Given the description of an element on the screen output the (x, y) to click on. 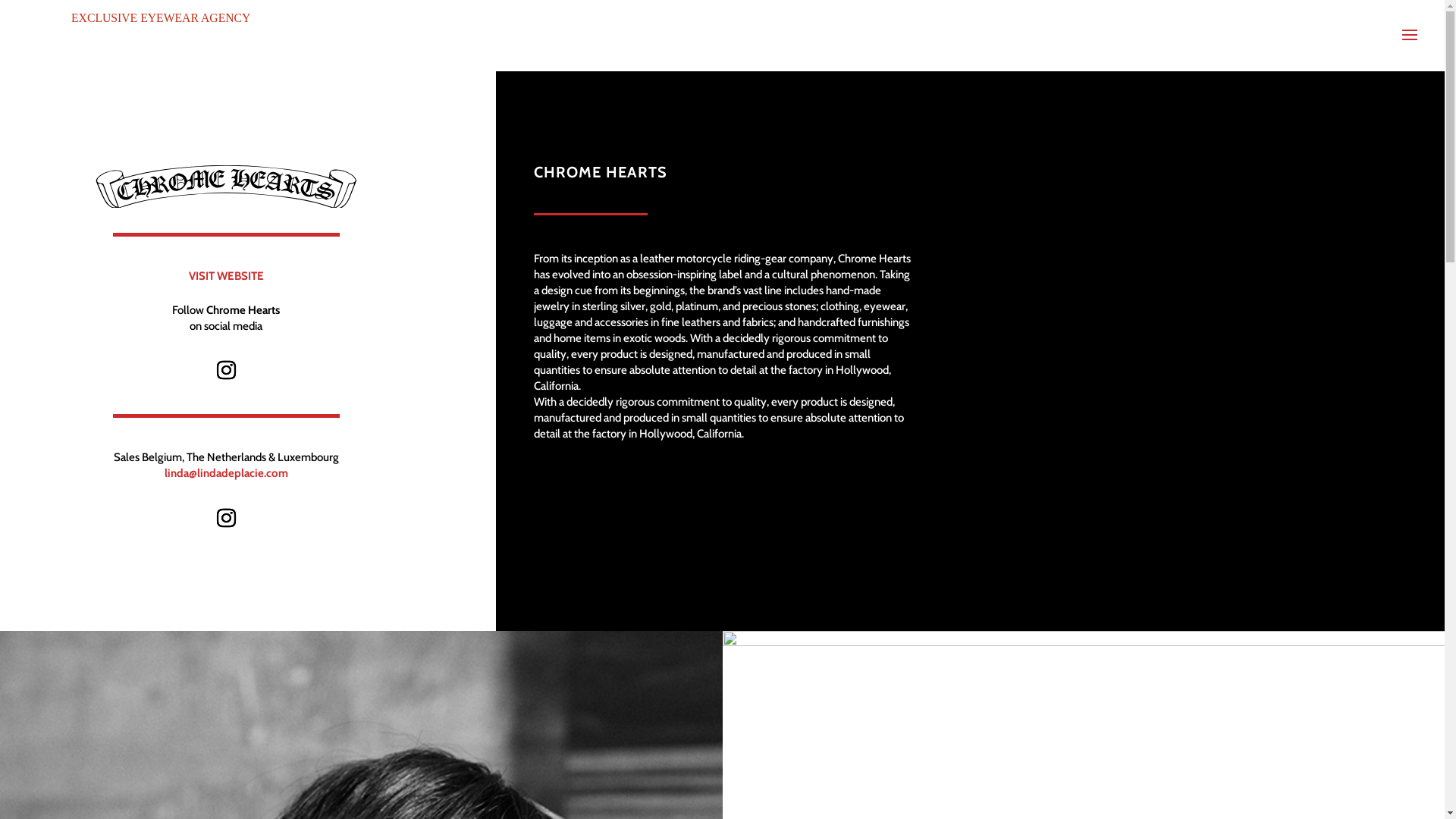
VISIT WEBSITE Element type: text (225, 275)
Follow on Instagram Element type: hover (225, 518)
Follow on Instagram Element type: hover (225, 370)
linda@lindadeplacie.com Element type: text (226, 473)
